Given the description of an element on the screen output the (x, y) to click on. 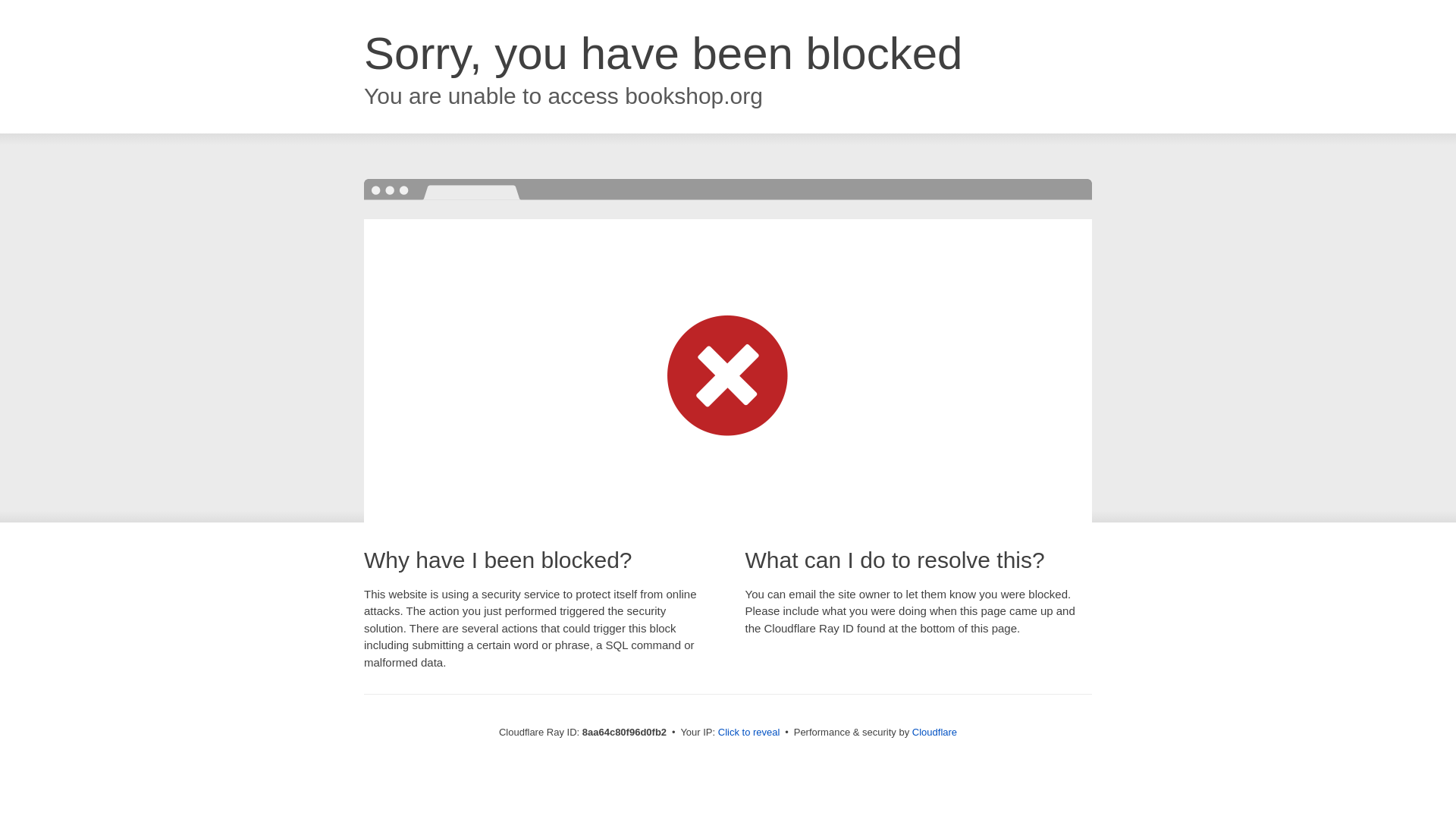
Cloudflare (934, 731)
Click to reveal (748, 732)
